Given the description of an element on the screen output the (x, y) to click on. 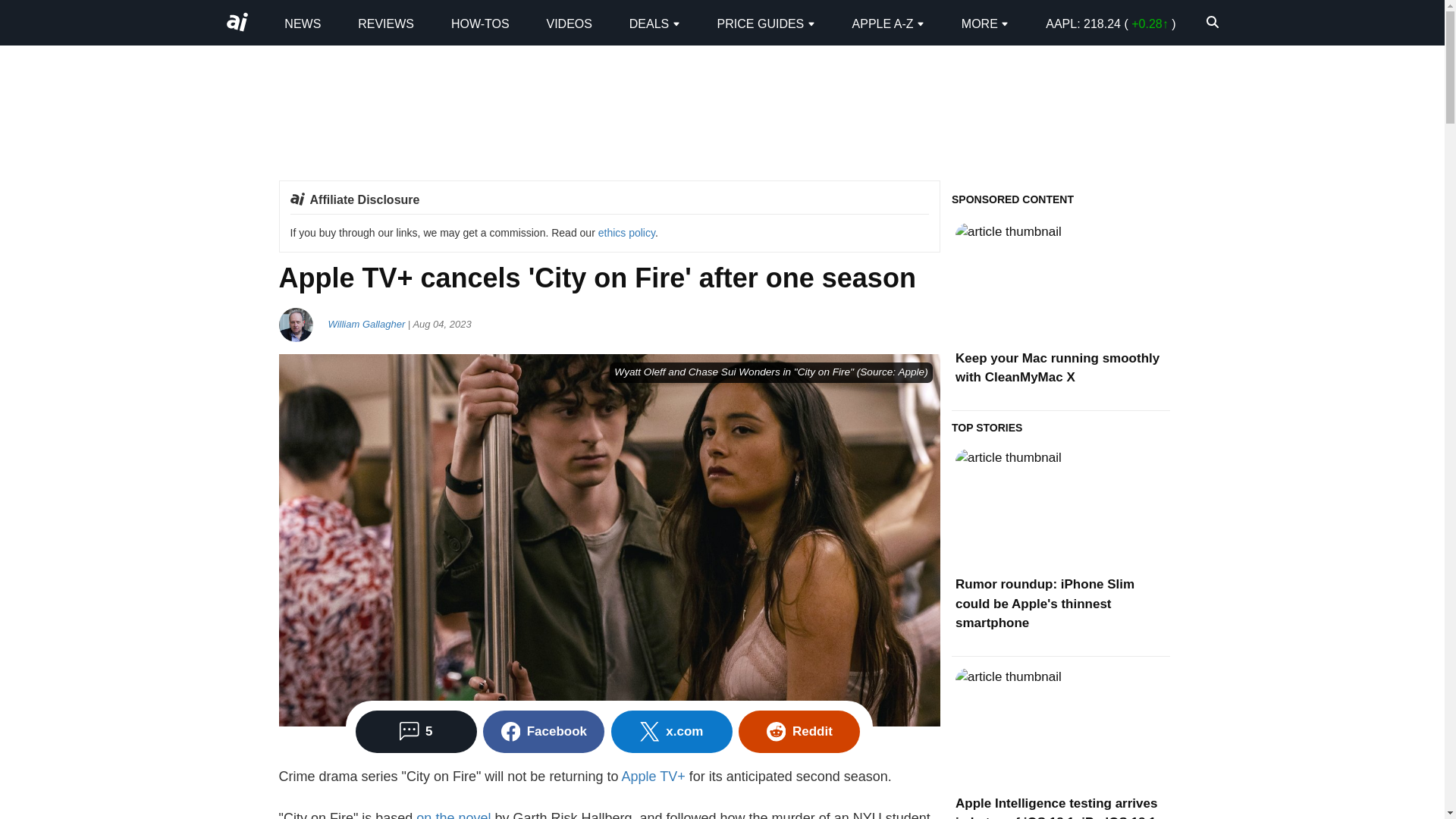
Videos (568, 23)
NEWS (301, 23)
How-Tos (480, 23)
REVIEWS (385, 23)
HOW-TOS (480, 23)
News (301, 23)
VIDEOS (568, 23)
Reviews (385, 23)
